Given the description of an element on the screen output the (x, y) to click on. 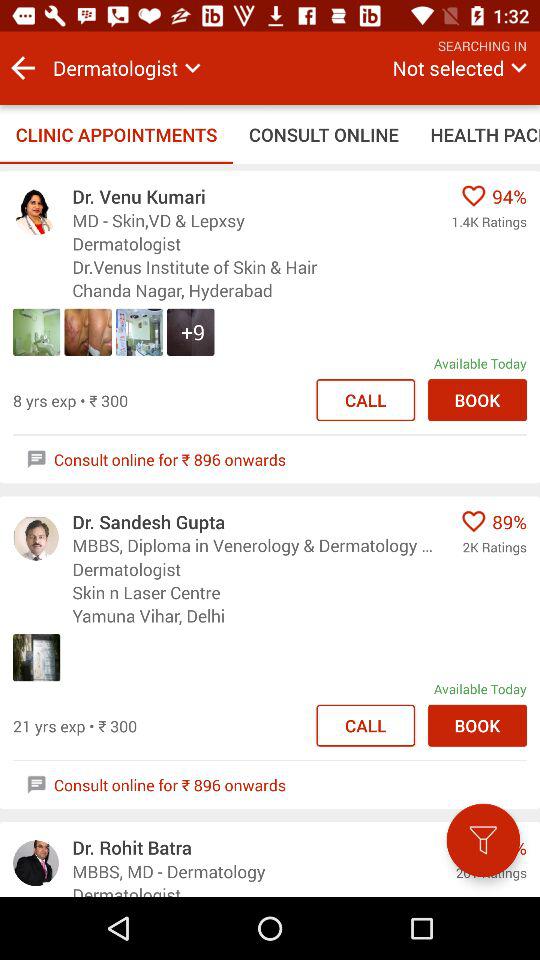
select item below consult online for item (483, 840)
